Given the description of an element on the screen output the (x, y) to click on. 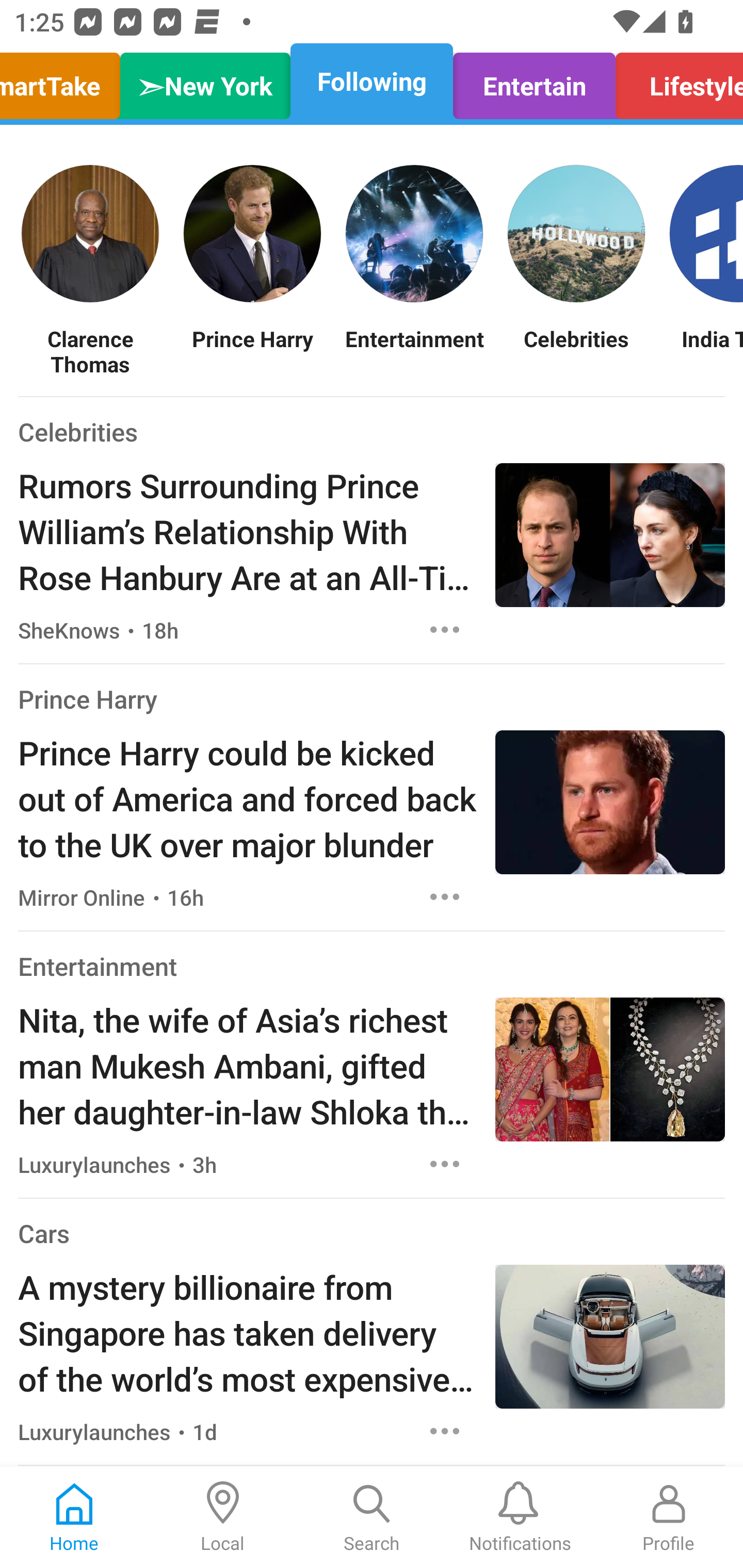
SmartTake (65, 81)
➣New York (205, 81)
Following (371, 81)
Entertain (534, 81)
Clarence Thomas (89, 350)
Prince Harry (251, 350)
Entertainment (413, 350)
Celebrities (575, 350)
Celebrities (77, 430)
Options (444, 629)
Prince Harry (87, 699)
Options (444, 896)
Entertainment (97, 965)
Options (444, 1164)
Cars (43, 1232)
Options (444, 1431)
Local (222, 1517)
Search (371, 1517)
Notifications (519, 1517)
Profile (668, 1517)
